Given the description of an element on the screen output the (x, y) to click on. 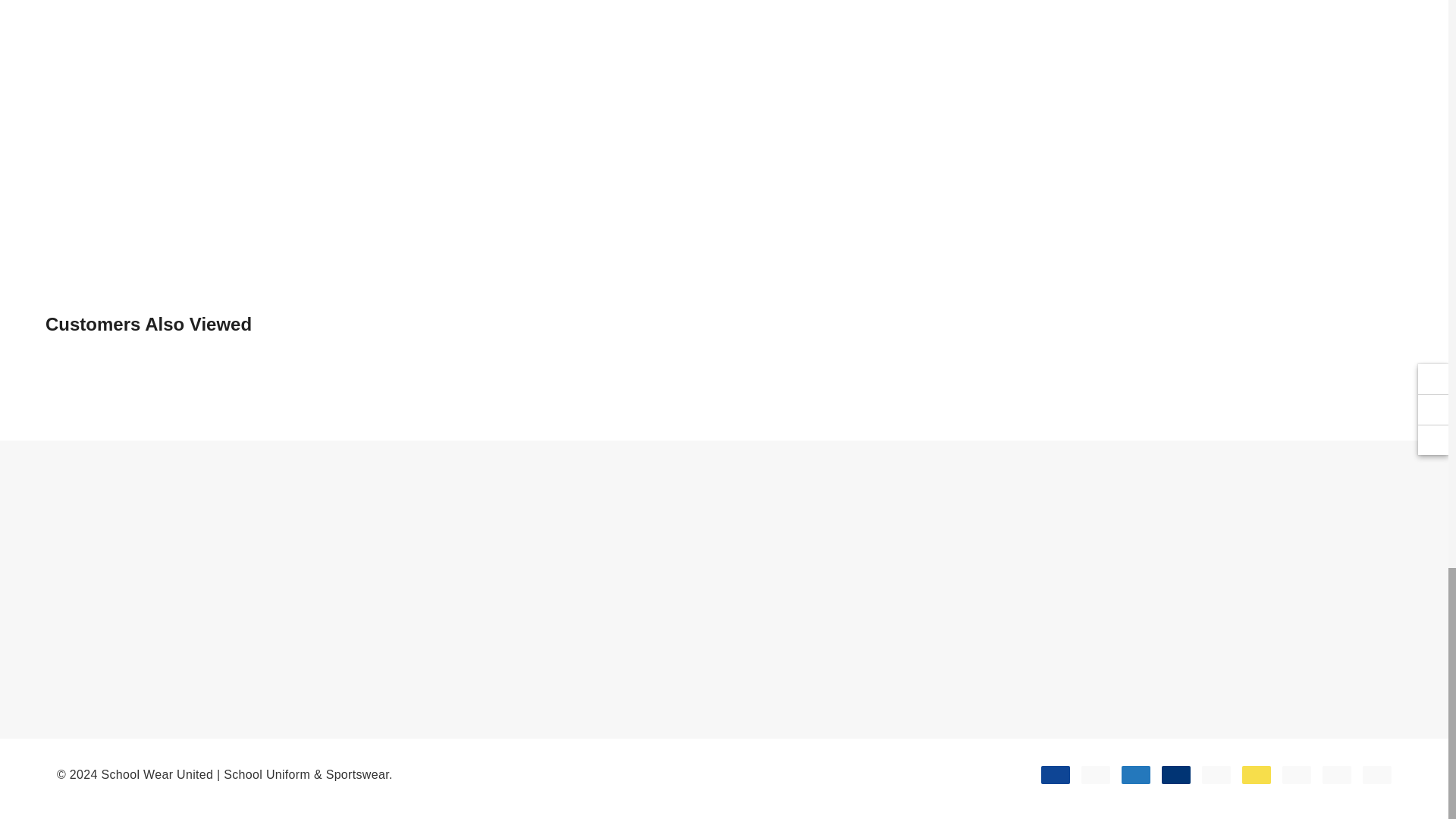
Western Union Western Union (1256, 774)
Mastercard Mastercard (1095, 774)
Cirrus Cirrus (1176, 774)
Visa Visa (1055, 774)
Amex Amex (1135, 774)
Paypal Paypal (1216, 774)
